Given the description of an element on the screen output the (x, y) to click on. 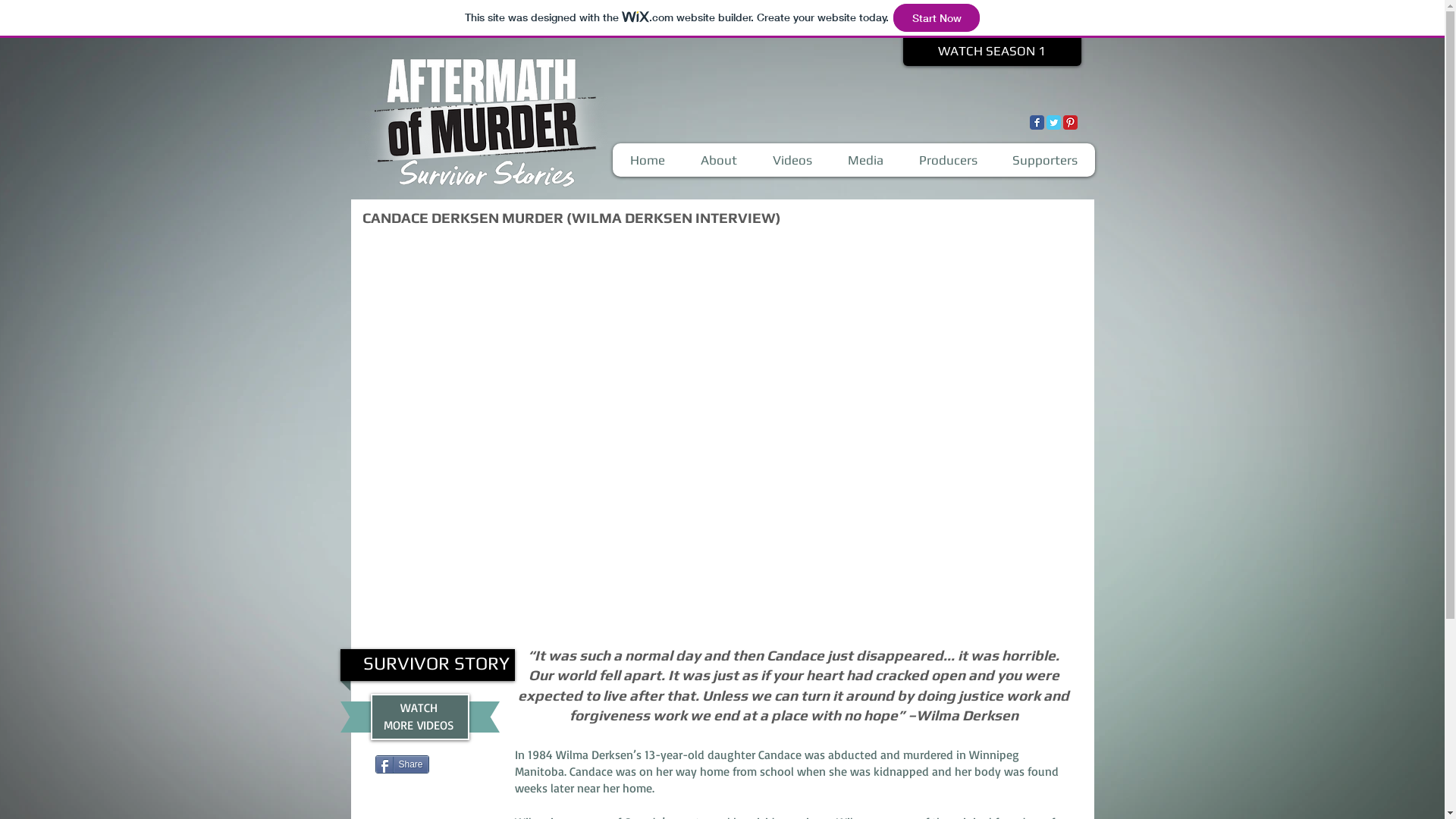
Supporters Element type: text (1044, 159)
Producers Element type: text (947, 159)
WATCH Element type: text (418, 707)
Media Element type: text (864, 159)
Videos Element type: text (790, 159)
MORE VIDEOS Element type: text (418, 724)
Share Element type: text (401, 764)
Home Element type: text (647, 159)
WATCH SEASON 1 Element type: text (991, 51)
External YouTube Element type: hover (722, 436)
Facebook Like Element type: hover (417, 762)
About Element type: text (718, 159)
